Given the description of an element on the screen output the (x, y) to click on. 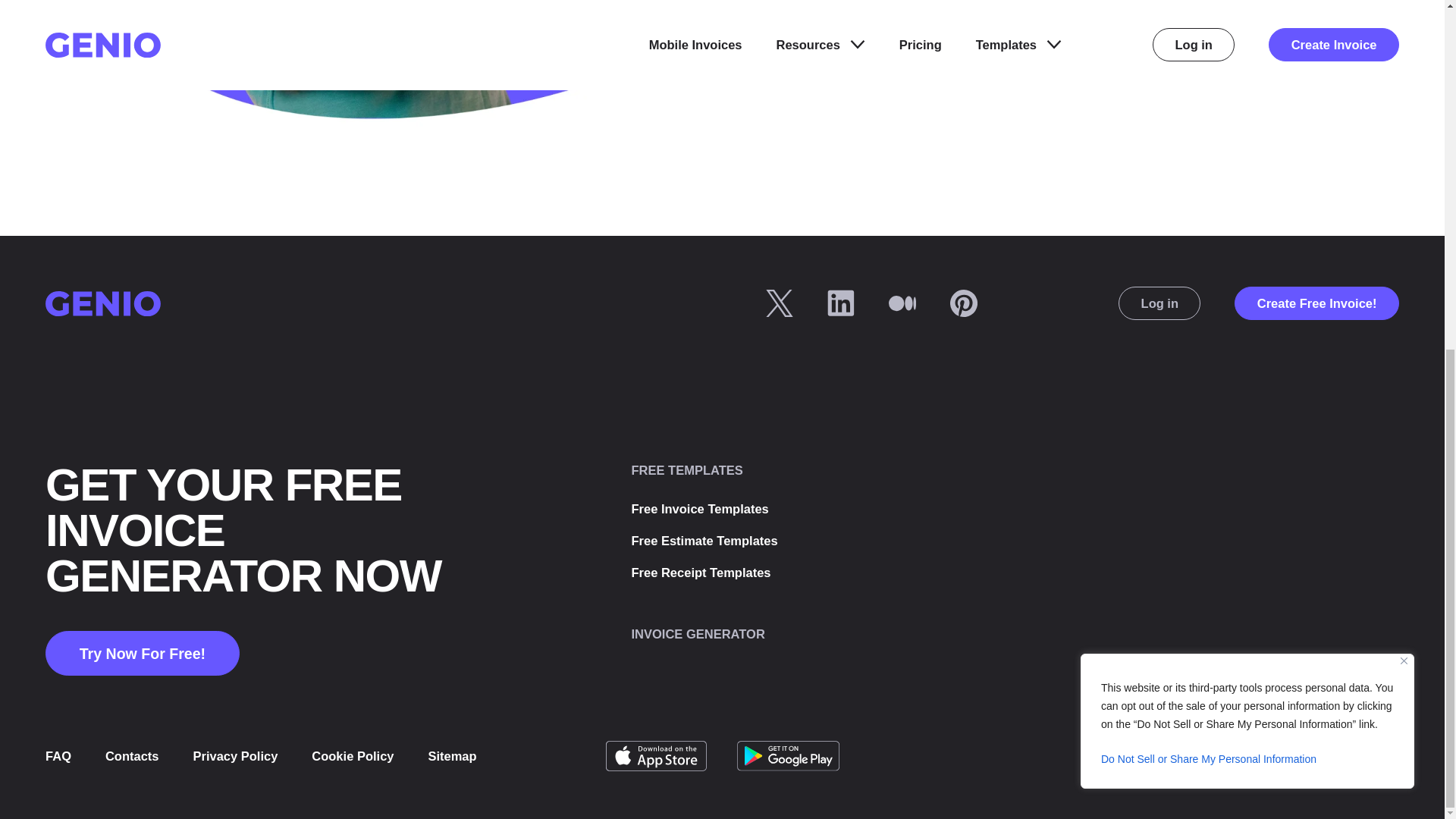
Do Not Sell or Share My Personal Information (1246, 153)
